Given the description of an element on the screen output the (x, y) to click on. 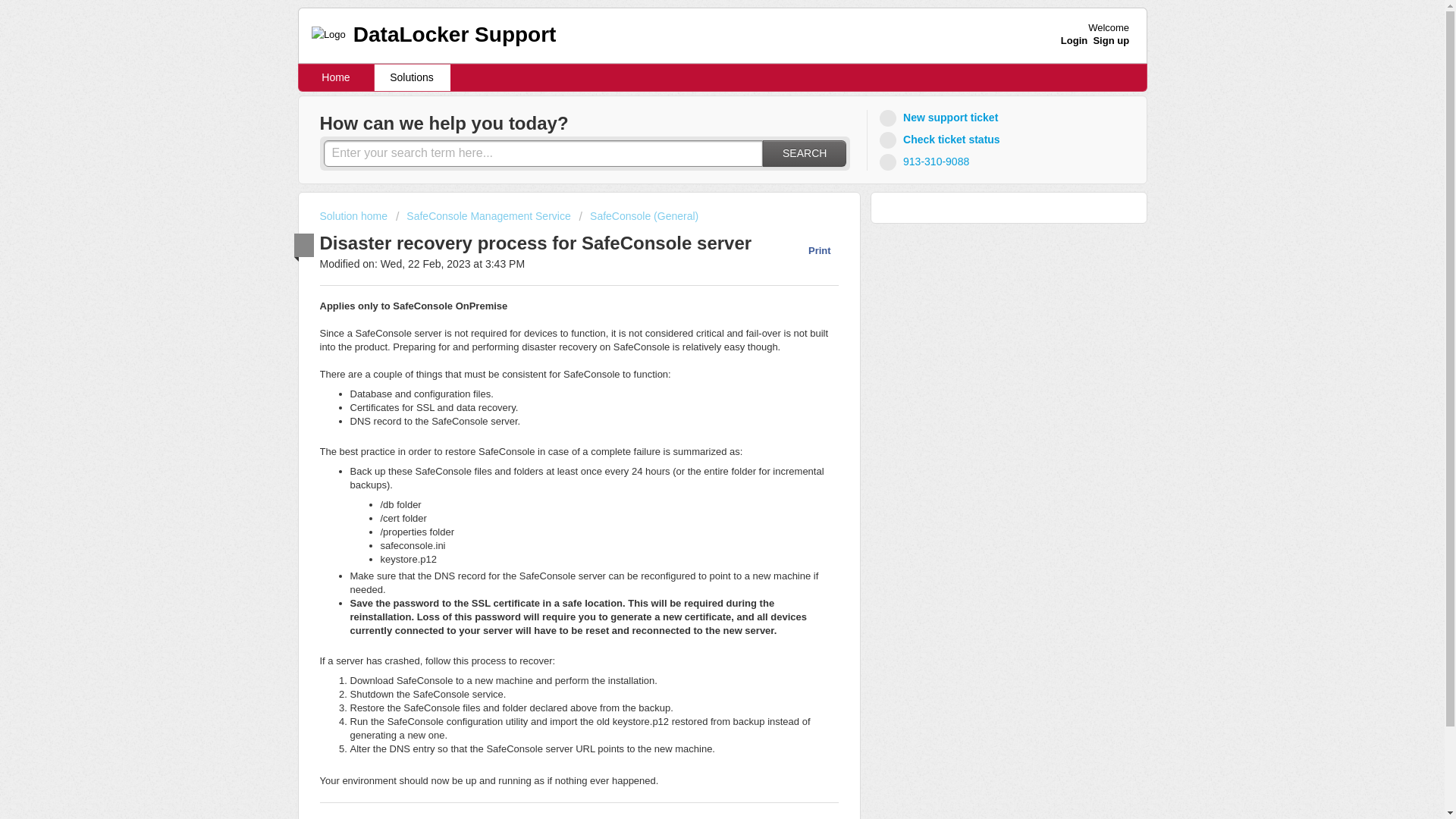
Login (1074, 40)
SafeConsole Management Service (483, 215)
SEARCH (803, 153)
913-310-9088 (926, 161)
Check ticket status (941, 139)
New support ticket (940, 117)
Solution home (355, 215)
Home (336, 77)
Solutions (411, 77)
Print this Article (812, 250)
